Given the description of an element on the screen output the (x, y) to click on. 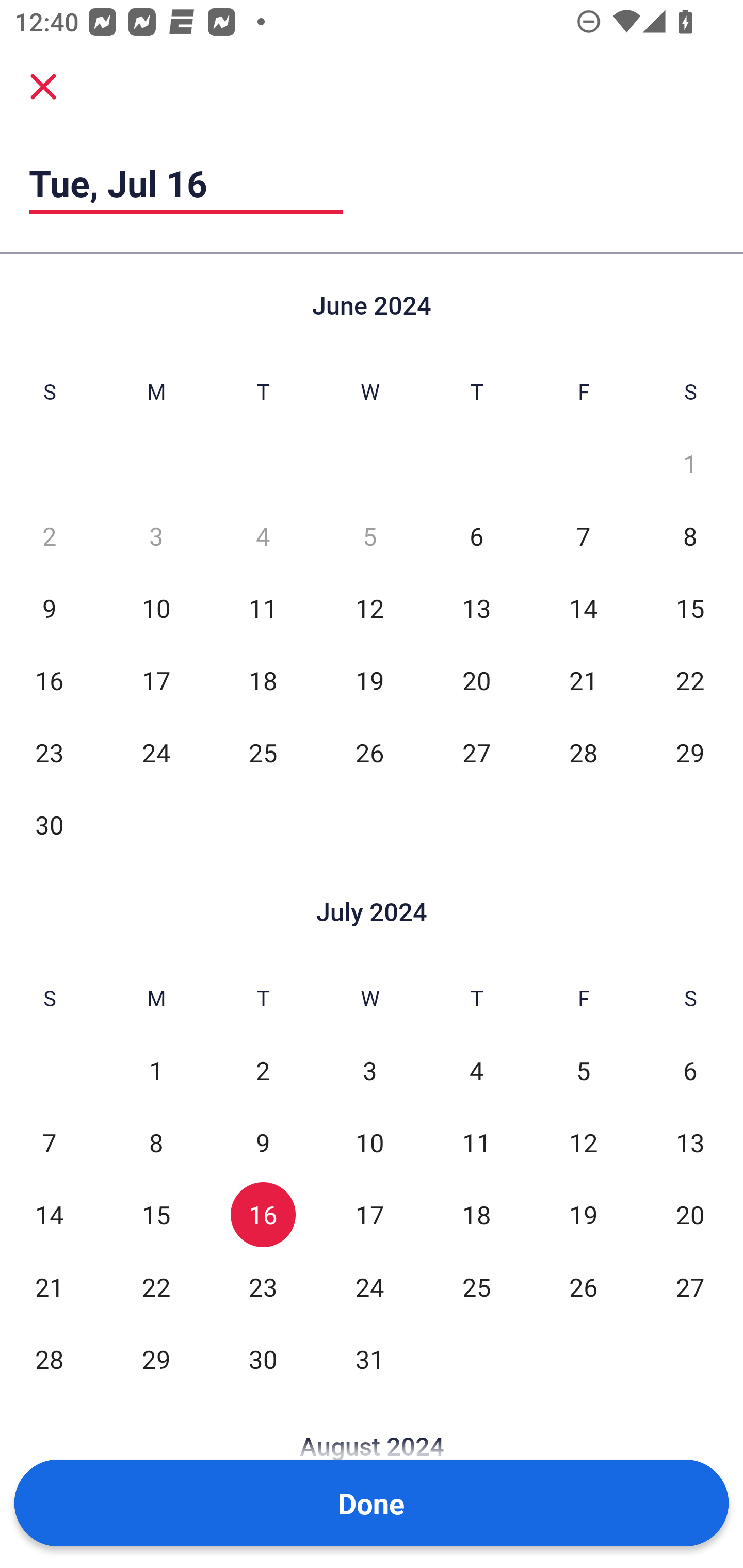
Cancel (43, 86)
Tue, Jul 16 (185, 182)
1 Sat, Jun 1, Not Selected (690, 464)
2 Sun, Jun 2, Not Selected (49, 536)
3 Mon, Jun 3, Not Selected (156, 536)
4 Tue, Jun 4, Not Selected (263, 536)
5 Wed, Jun 5, Not Selected (369, 536)
6 Thu, Jun 6, Not Selected (476, 536)
7 Fri, Jun 7, Not Selected (583, 536)
8 Sat, Jun 8, Not Selected (690, 536)
9 Sun, Jun 9, Not Selected (49, 608)
10 Mon, Jun 10, Not Selected (156, 608)
11 Tue, Jun 11, Not Selected (263, 608)
12 Wed, Jun 12, Not Selected (369, 608)
13 Thu, Jun 13, Not Selected (476, 608)
14 Fri, Jun 14, Not Selected (583, 608)
15 Sat, Jun 15, Not Selected (690, 608)
16 Sun, Jun 16, Not Selected (49, 680)
17 Mon, Jun 17, Not Selected (156, 680)
18 Tue, Jun 18, Not Selected (263, 680)
19 Wed, Jun 19, Not Selected (369, 680)
20 Thu, Jun 20, Not Selected (476, 680)
21 Fri, Jun 21, Not Selected (583, 680)
22 Sat, Jun 22, Not Selected (690, 680)
23 Sun, Jun 23, Not Selected (49, 752)
24 Mon, Jun 24, Not Selected (156, 752)
25 Tue, Jun 25, Not Selected (263, 752)
26 Wed, Jun 26, Not Selected (369, 752)
27 Thu, Jun 27, Not Selected (476, 752)
28 Fri, Jun 28, Not Selected (583, 752)
29 Sat, Jun 29, Not Selected (690, 752)
30 Sun, Jun 30, Not Selected (49, 824)
1 Mon, Jul 1, Not Selected (156, 1070)
2 Tue, Jul 2, Not Selected (263, 1070)
3 Wed, Jul 3, Not Selected (369, 1070)
4 Thu, Jul 4, Not Selected (476, 1070)
5 Fri, Jul 5, Not Selected (583, 1070)
6 Sat, Jul 6, Not Selected (690, 1070)
7 Sun, Jul 7, Not Selected (49, 1143)
8 Mon, Jul 8, Not Selected (156, 1143)
9 Tue, Jul 9, Not Selected (263, 1143)
10 Wed, Jul 10, Not Selected (369, 1143)
11 Thu, Jul 11, Not Selected (476, 1143)
12 Fri, Jul 12, Not Selected (583, 1143)
13 Sat, Jul 13, Not Selected (690, 1143)
14 Sun, Jul 14, Not Selected (49, 1215)
15 Mon, Jul 15, Not Selected (156, 1215)
16 Tue, Jul 16, Selected (263, 1215)
17 Wed, Jul 17, Not Selected (369, 1215)
18 Thu, Jul 18, Not Selected (476, 1215)
